Given the description of an element on the screen output the (x, y) to click on. 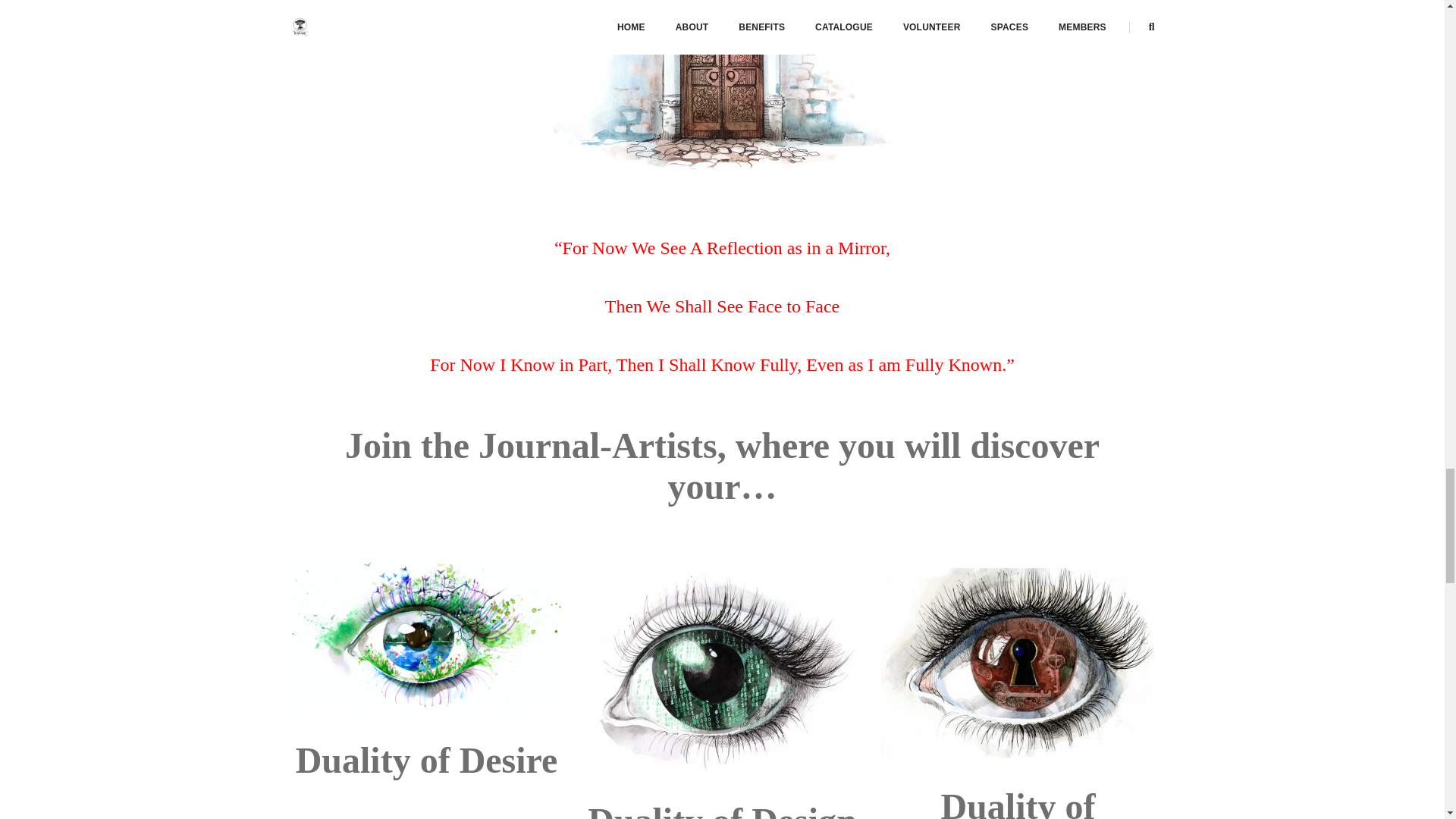
door (722, 87)
matrix in the eye (722, 670)
Okalinichenko 9 copy (425, 631)
